Given the description of an element on the screen output the (x, y) to click on. 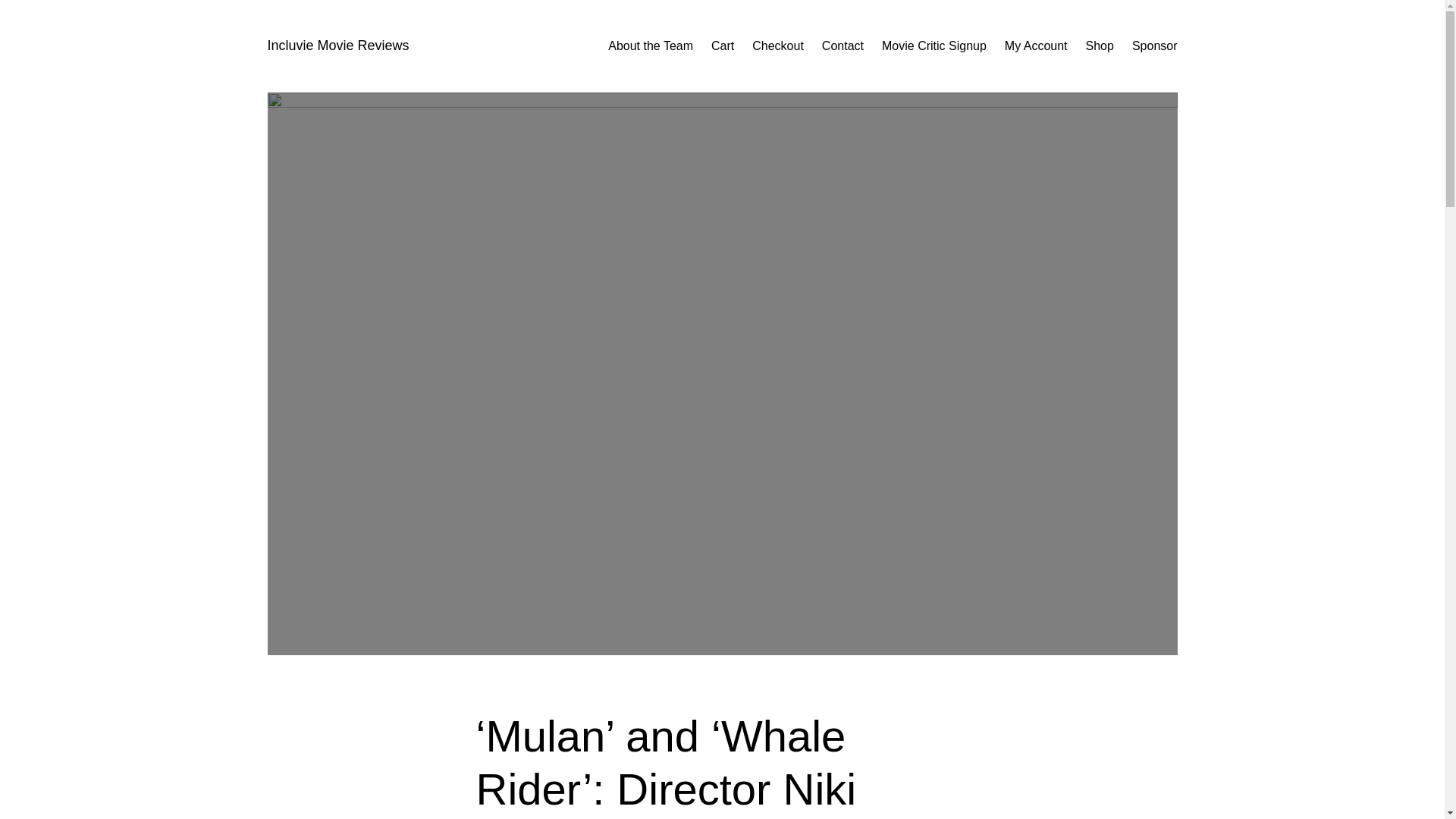
About the Team (650, 46)
My Account (1035, 46)
Incluvie Movie Reviews (337, 45)
Cart (722, 46)
Shop (1099, 46)
Movie Critic Signup (934, 46)
Checkout (777, 46)
Contact (842, 46)
Sponsor (1154, 46)
